Given the description of an element on the screen output the (x, y) to click on. 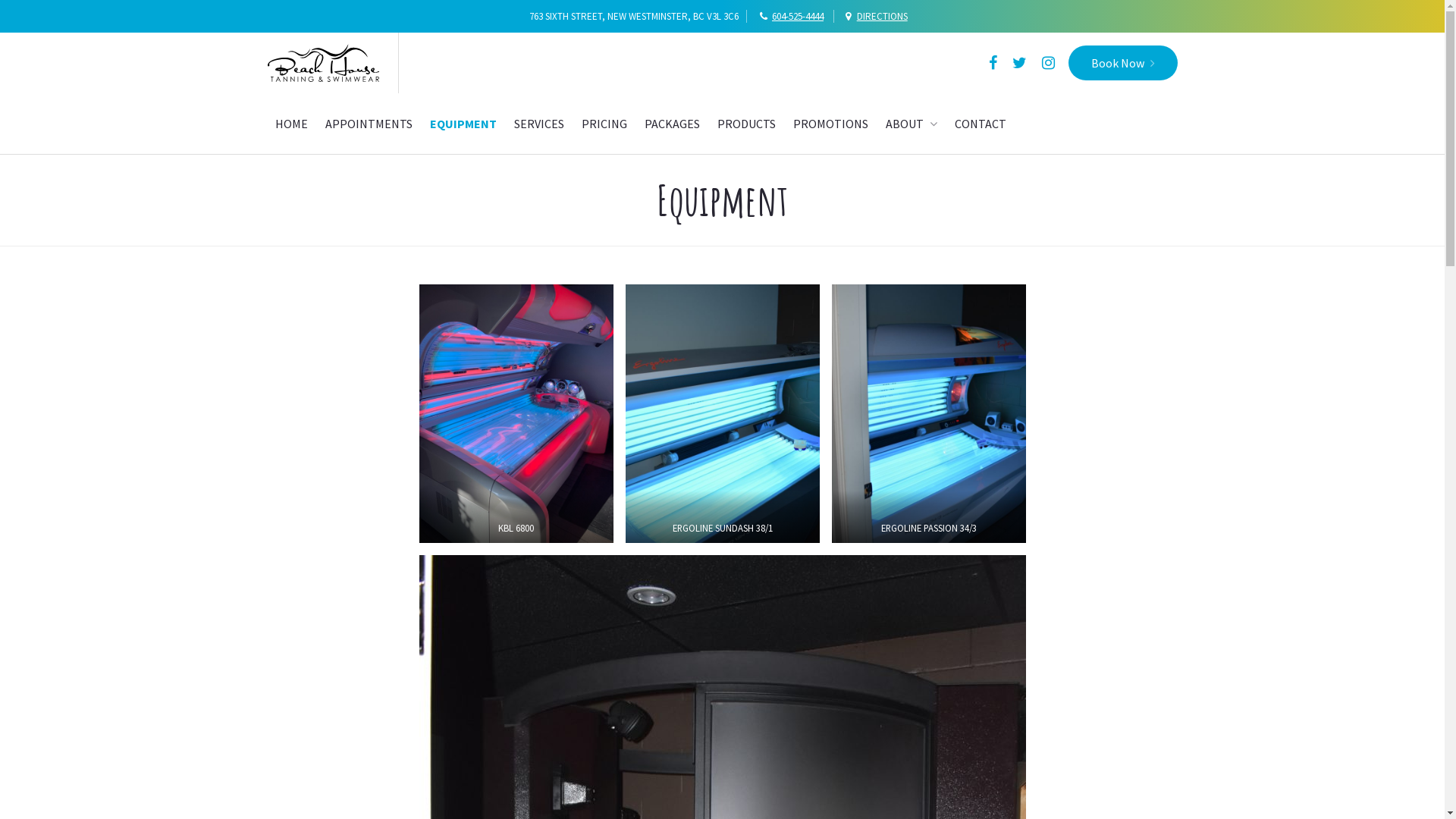
Book Now Element type: text (1121, 62)
CONTACT Element type: text (979, 123)
PACKAGES Element type: text (672, 123)
PRICING Element type: text (603, 123)
EQUIPMENT Element type: text (462, 123)
APPOINTMENTS Element type: text (367, 123)
PRODUCTS Element type: text (746, 123)
ABOUT Element type: text (911, 123)
604-525-4444 Element type: text (797, 15)
Twitter Element type: text (1018, 62)
SERVICES Element type: text (538, 123)
DIRECTIONS Element type: text (881, 15)
Facebook Element type: text (992, 62)
HOME Element type: text (290, 123)
PROMOTIONS Element type: text (830, 123)
Instagram Element type: text (1047, 62)
